Given the description of an element on the screen output the (x, y) to click on. 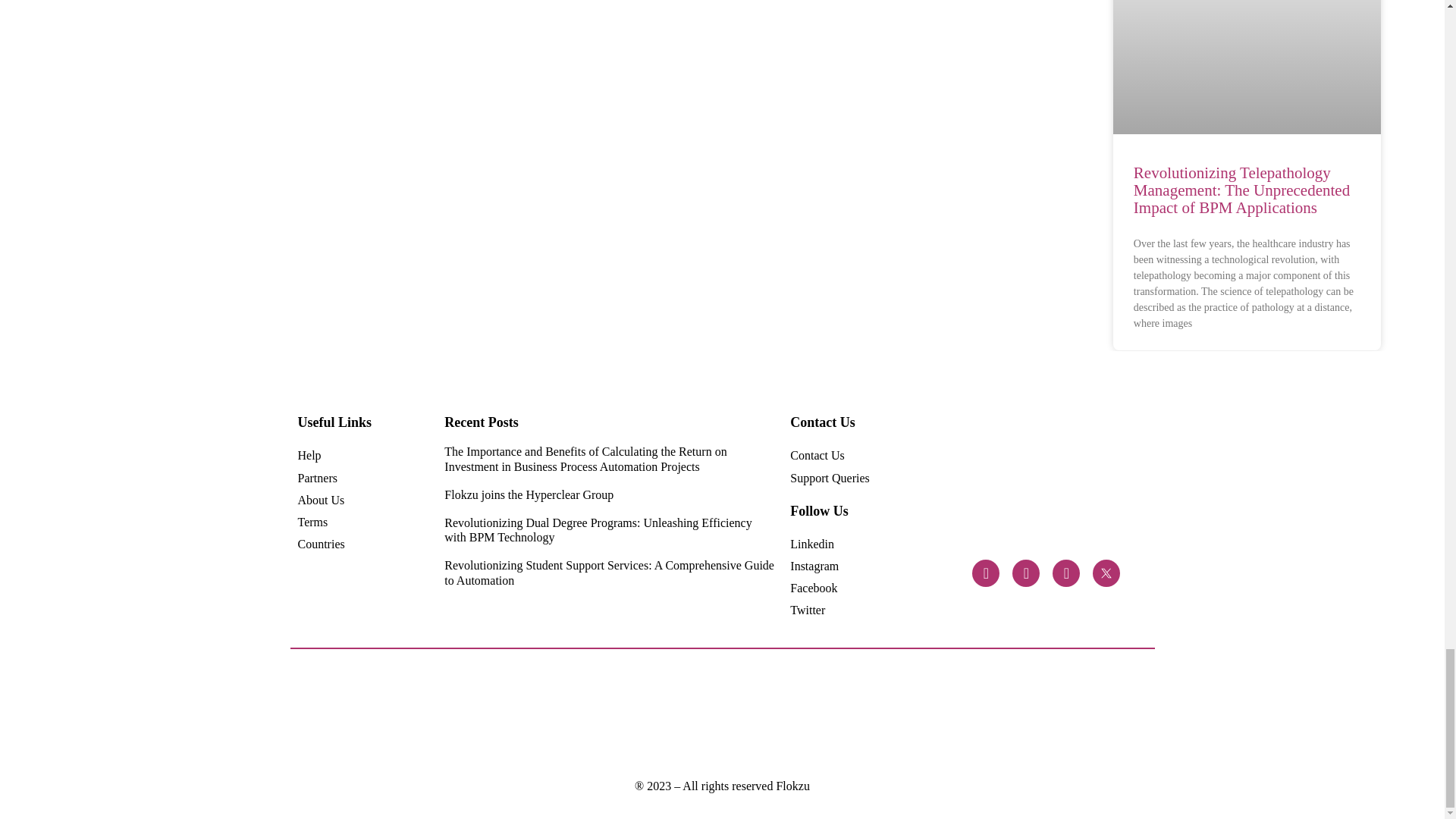
good firms top bpm-footer (945, 715)
Top Performer Flokzu 2024-1 (688, 714)
frontrunner 2024 (494, 714)
category leaders 2024 (430, 714)
Top Performer Flokzu 2024-2 (559, 714)
getapp best functionality and features-footer (1010, 714)
